Given the description of an element on the screen output the (x, y) to click on. 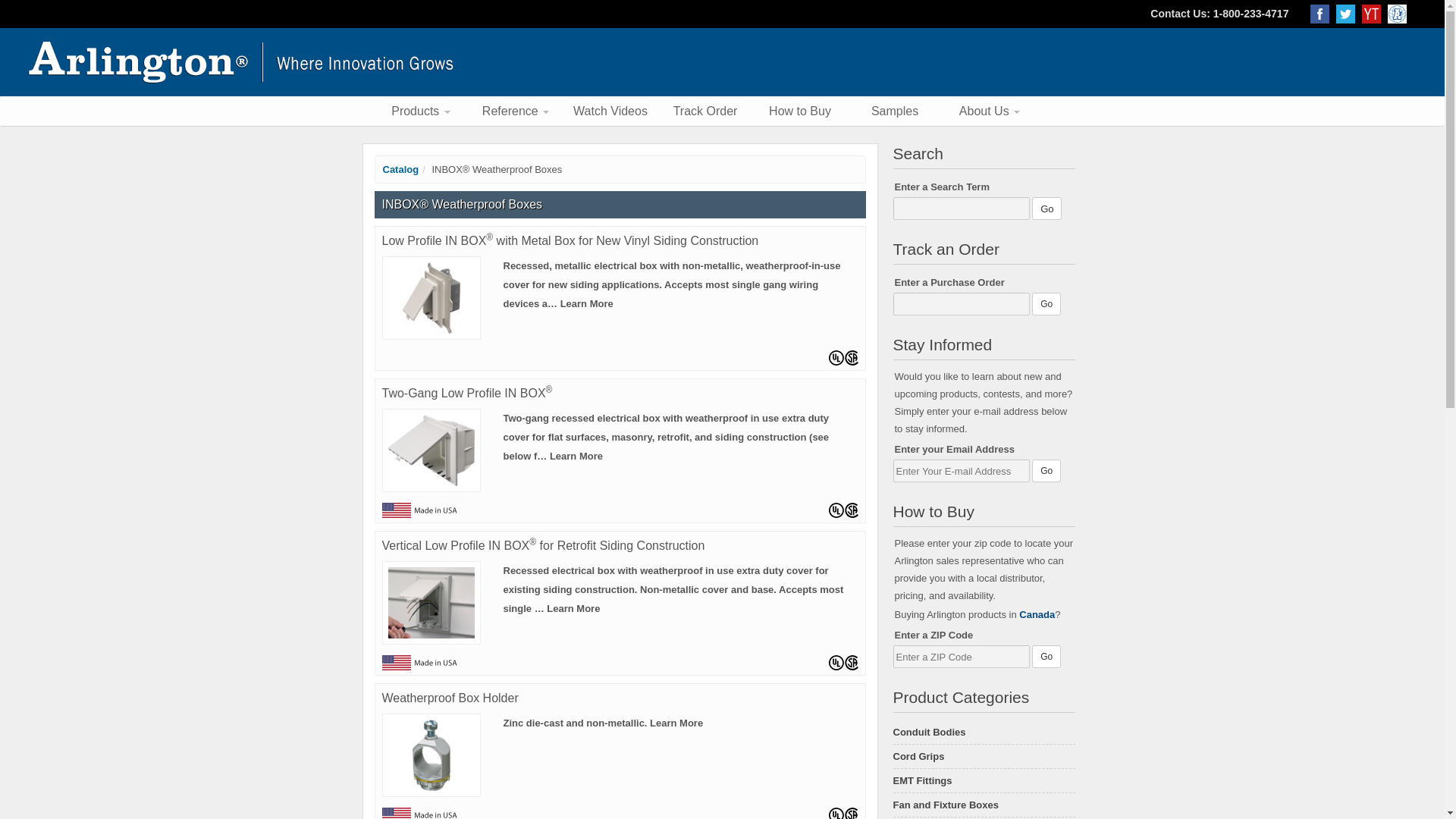
Go (1046, 303)
Go (1046, 656)
Go (1046, 208)
Check out Arlington's Youtube Channel (1374, 13)
Follow Arlington on Twitter (1348, 13)
Visit Arlington's Facebook (1323, 13)
